Given the description of an element on the screen output the (x, y) to click on. 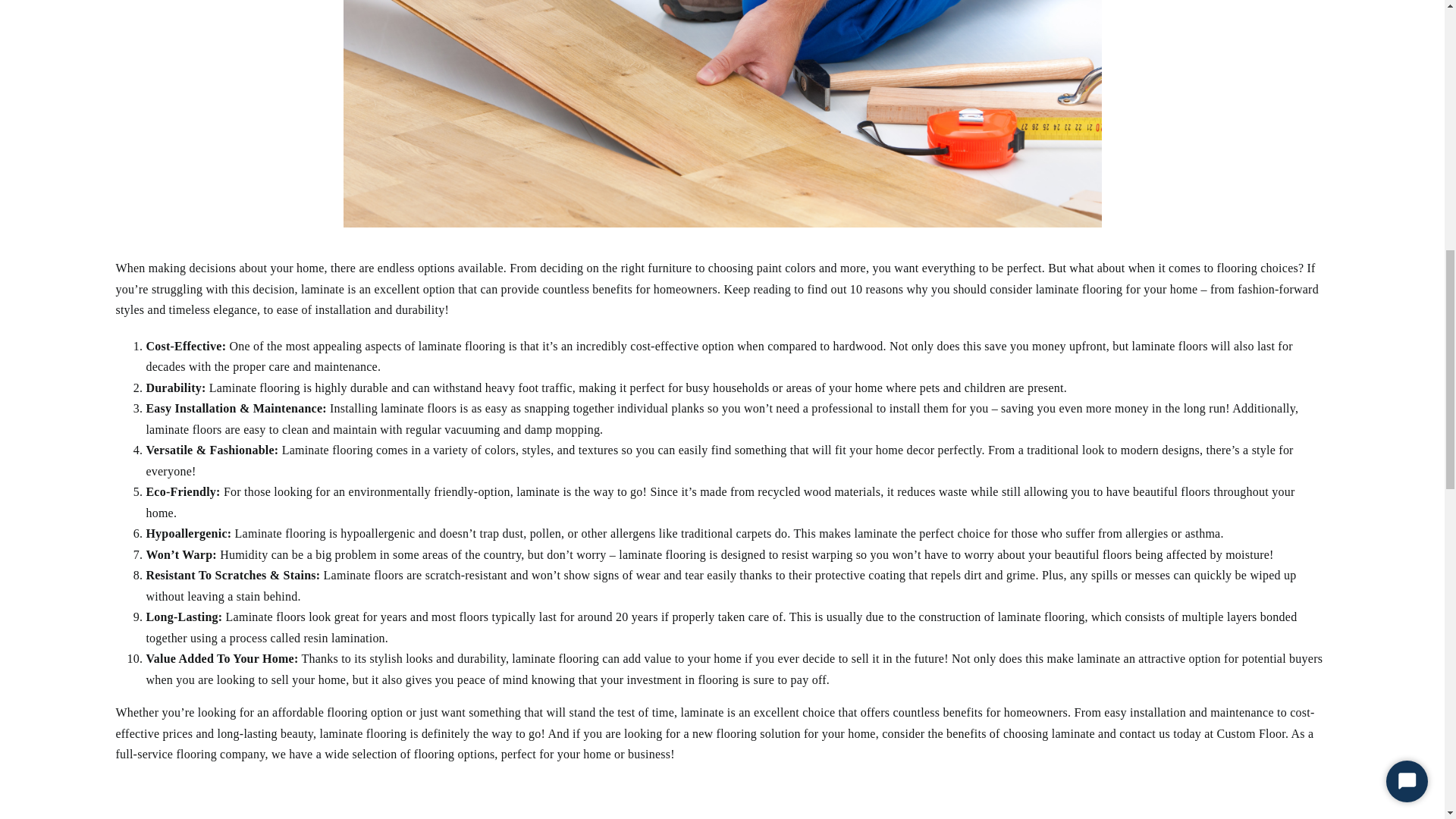
contact (1137, 733)
